Given the description of an element on the screen output the (x, y) to click on. 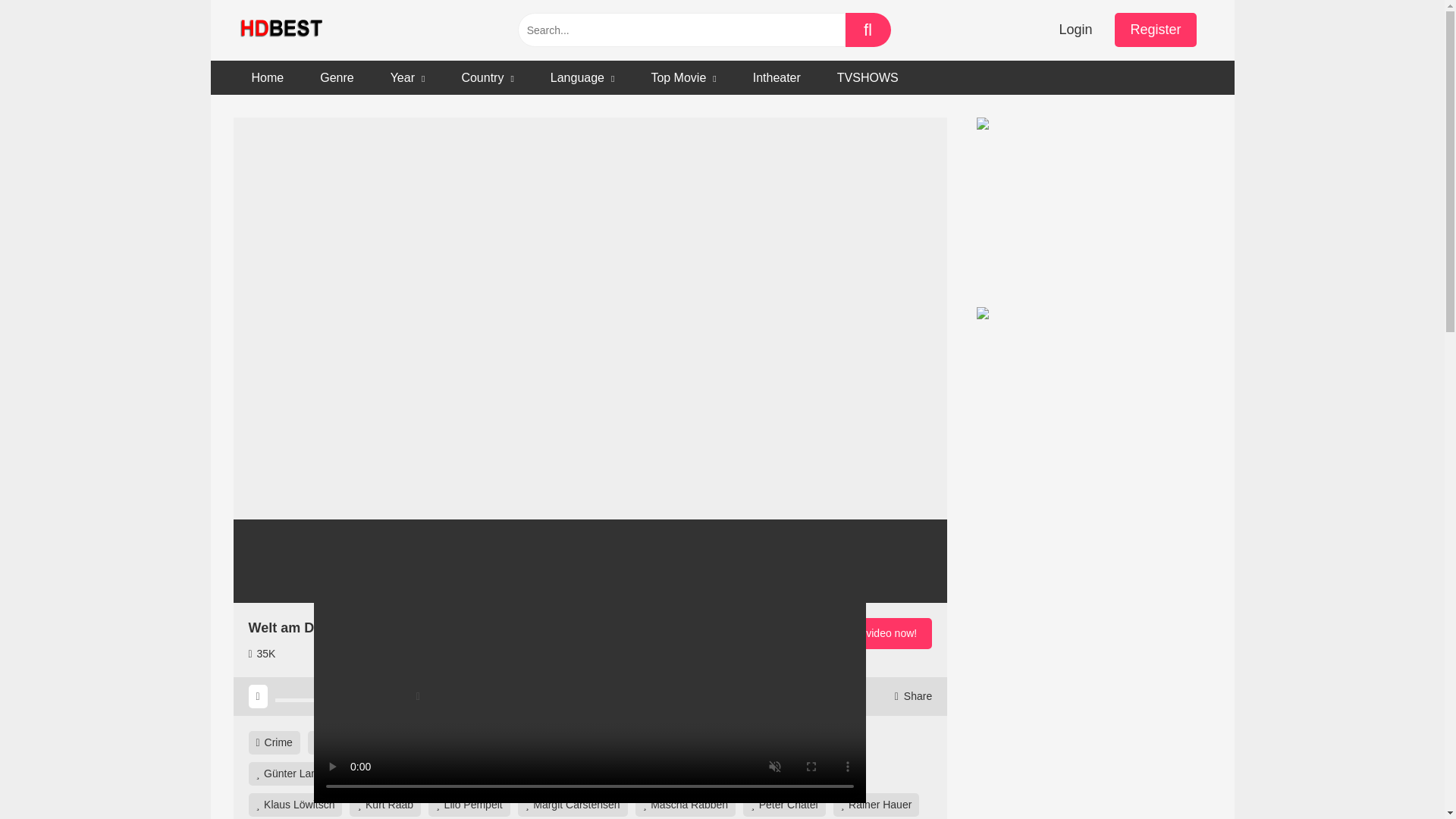
Adrian Hoven (480, 742)
Mystery (398, 742)
Crime (273, 742)
Genre (334, 742)
Gottfried John (780, 742)
Home (267, 77)
Year (408, 77)
Login (1075, 29)
Search... (680, 29)
Register (1155, 29)
Genre (336, 77)
Barbara Valentin (581, 742)
Language (582, 77)
Full HD Movie For Free (282, 29)
Country (486, 77)
